Given the description of an element on the screen output the (x, y) to click on. 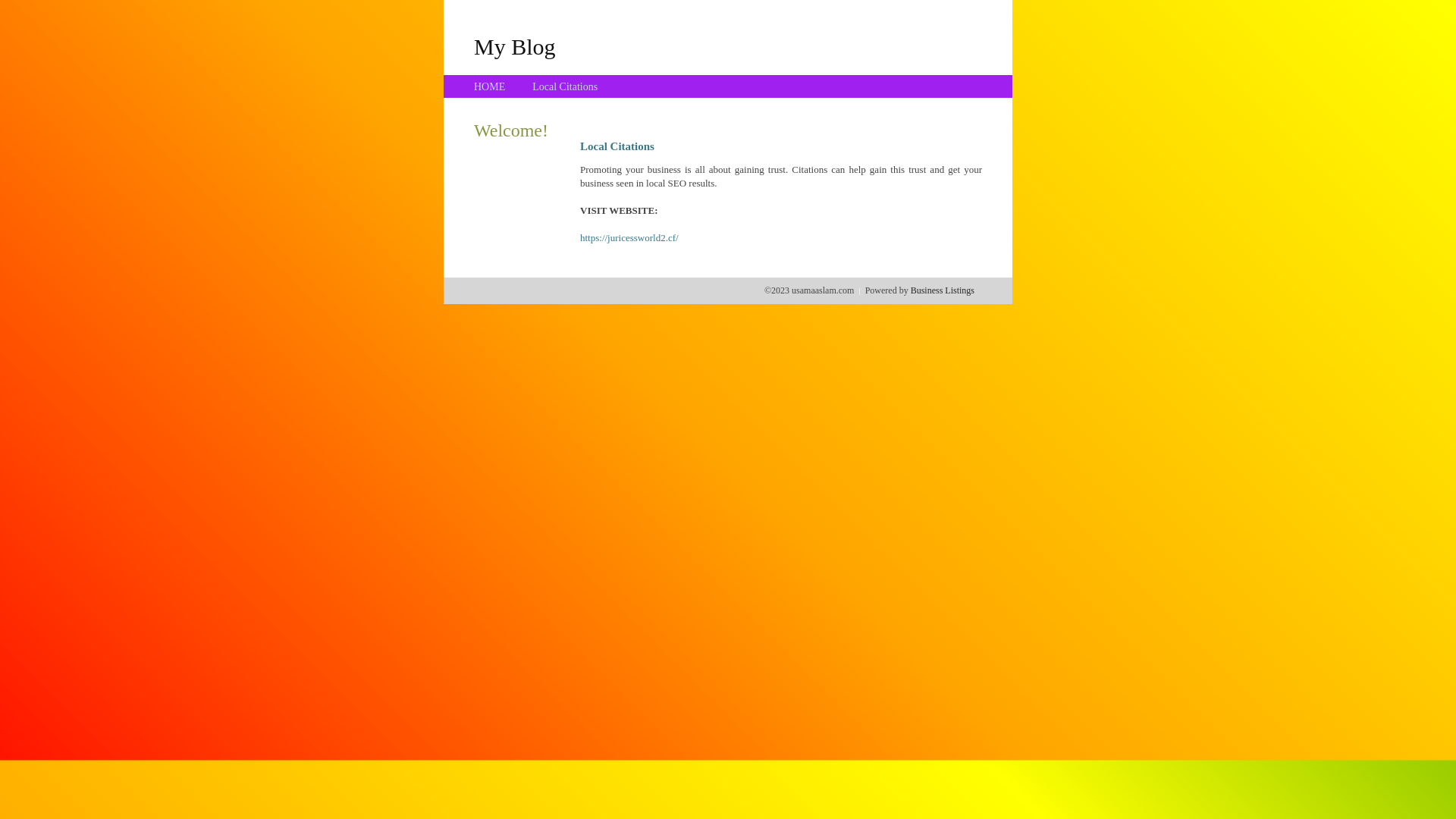
My Blog Element type: text (514, 46)
Business Listings Element type: text (942, 290)
Local Citations Element type: text (564, 86)
HOME Element type: text (489, 86)
https://juricessworld2.cf/ Element type: text (629, 237)
